Given the description of an element on the screen output the (x, y) to click on. 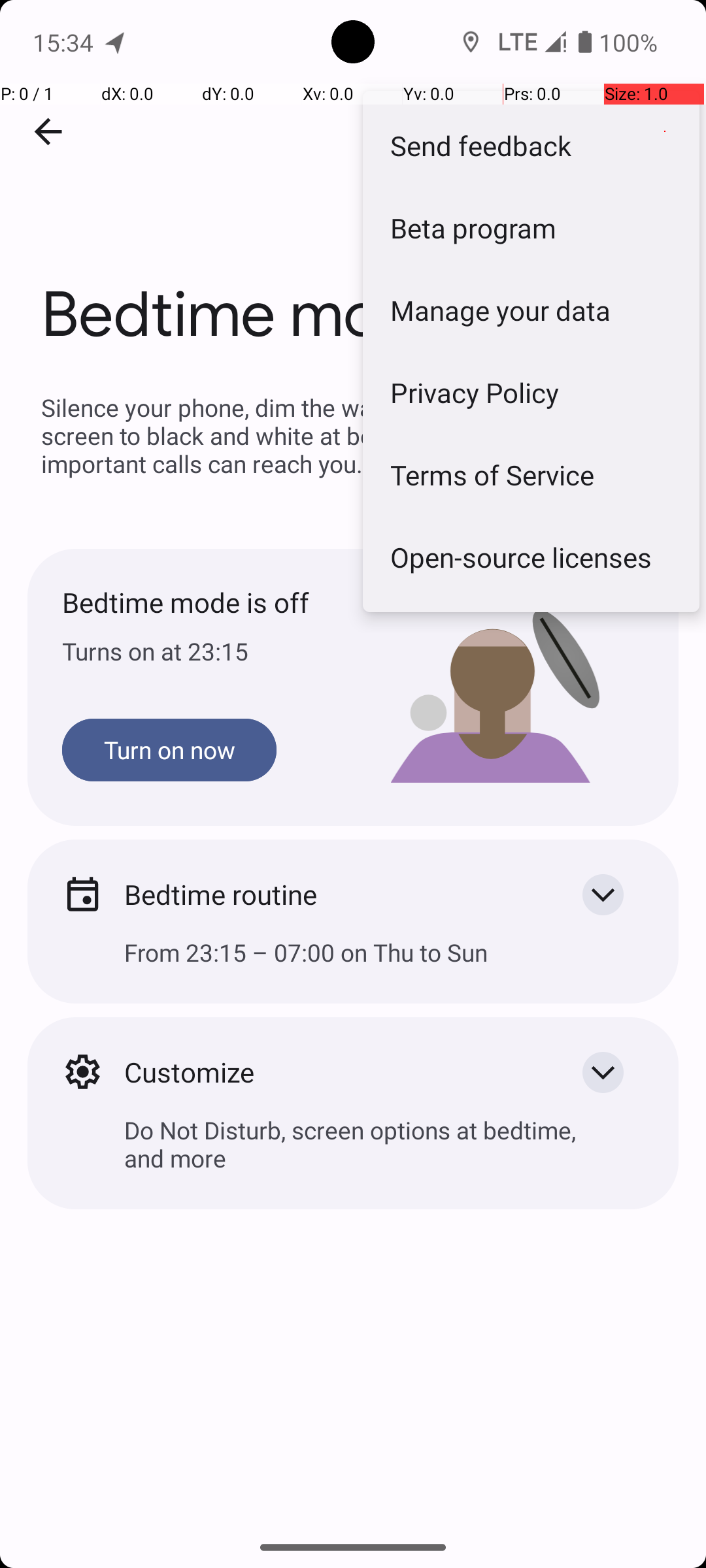
Send feedback Element type: android.widget.TextView (531, 144)
Beta program Element type: android.widget.TextView (531, 227)
Manage your data Element type: android.widget.TextView (531, 309)
Privacy Policy Element type: android.widget.TextView (531, 391)
Terms of Service Element type: android.widget.TextView (531, 474)
Open-source licenses Element type: android.widget.TextView (531, 556)
